Given the description of an element on the screen output the (x, y) to click on. 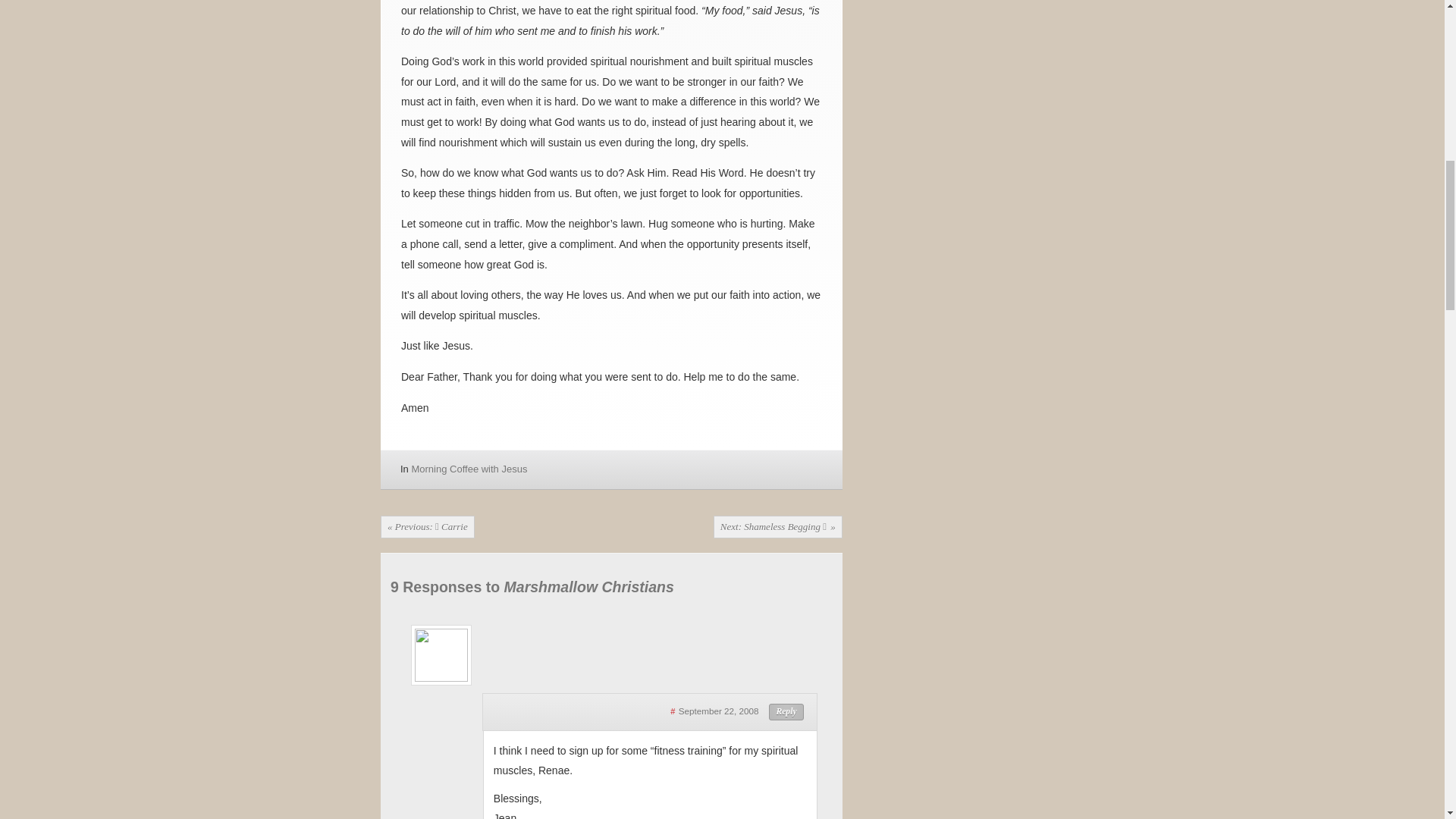
Carrie (427, 526)
Shameless Begging (778, 526)
Reply (786, 711)
Morning Coffee with Jesus (468, 469)
